Given the description of an element on the screen output the (x, y) to click on. 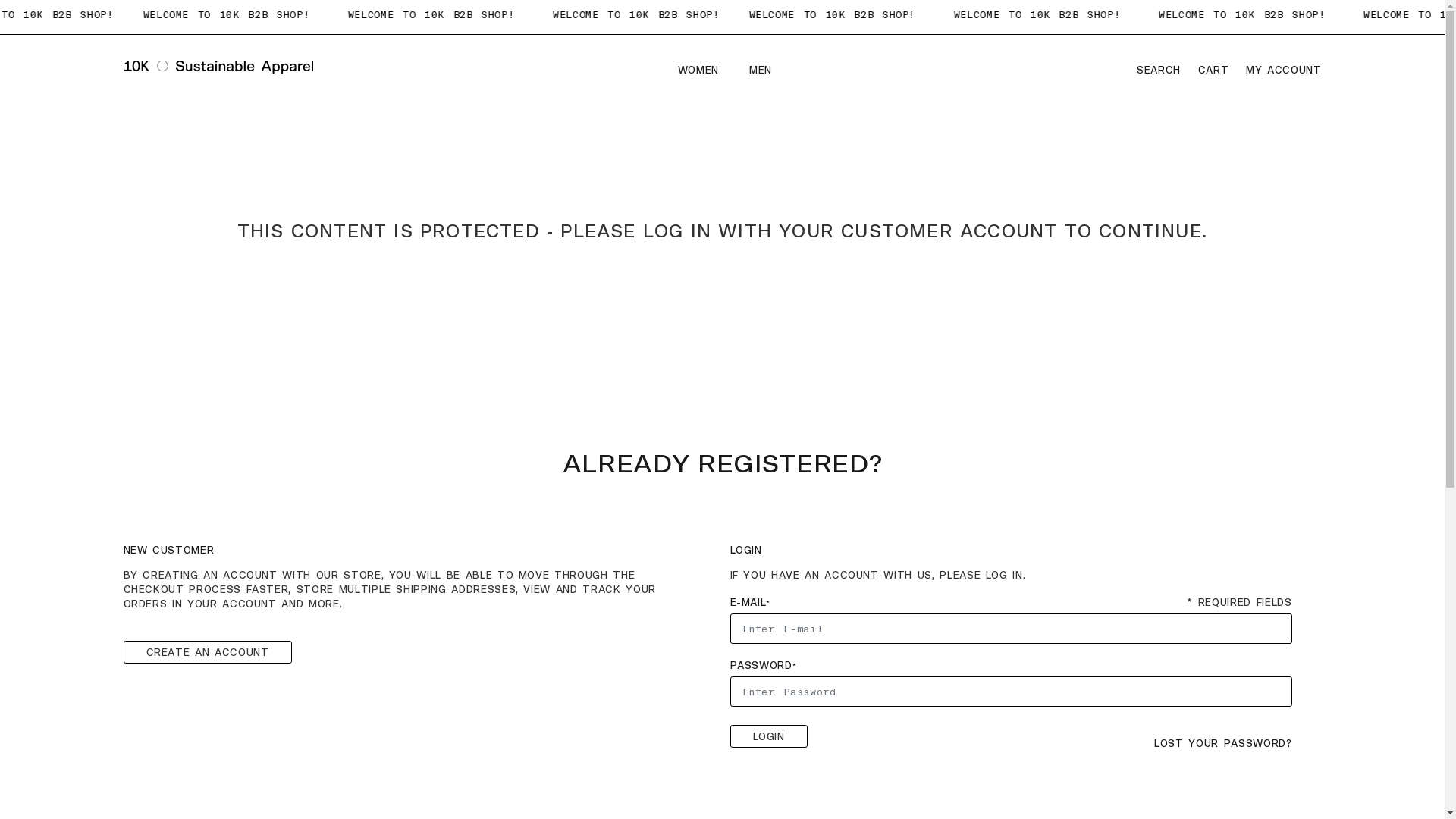
CREATE AN ACCOUNT Element type: text (206, 651)
MY ACCOUNT Element type: text (1280, 67)
CART Element type: text (1213, 67)
LOGIN Element type: text (767, 735)
MEN Element type: text (752, 70)
SEARCH Element type: text (1161, 67)
LOST YOUR PASSWORD? Element type: text (1222, 744)
WOMEN Element type: text (701, 70)
